Given the description of an element on the screen output the (x, y) to click on. 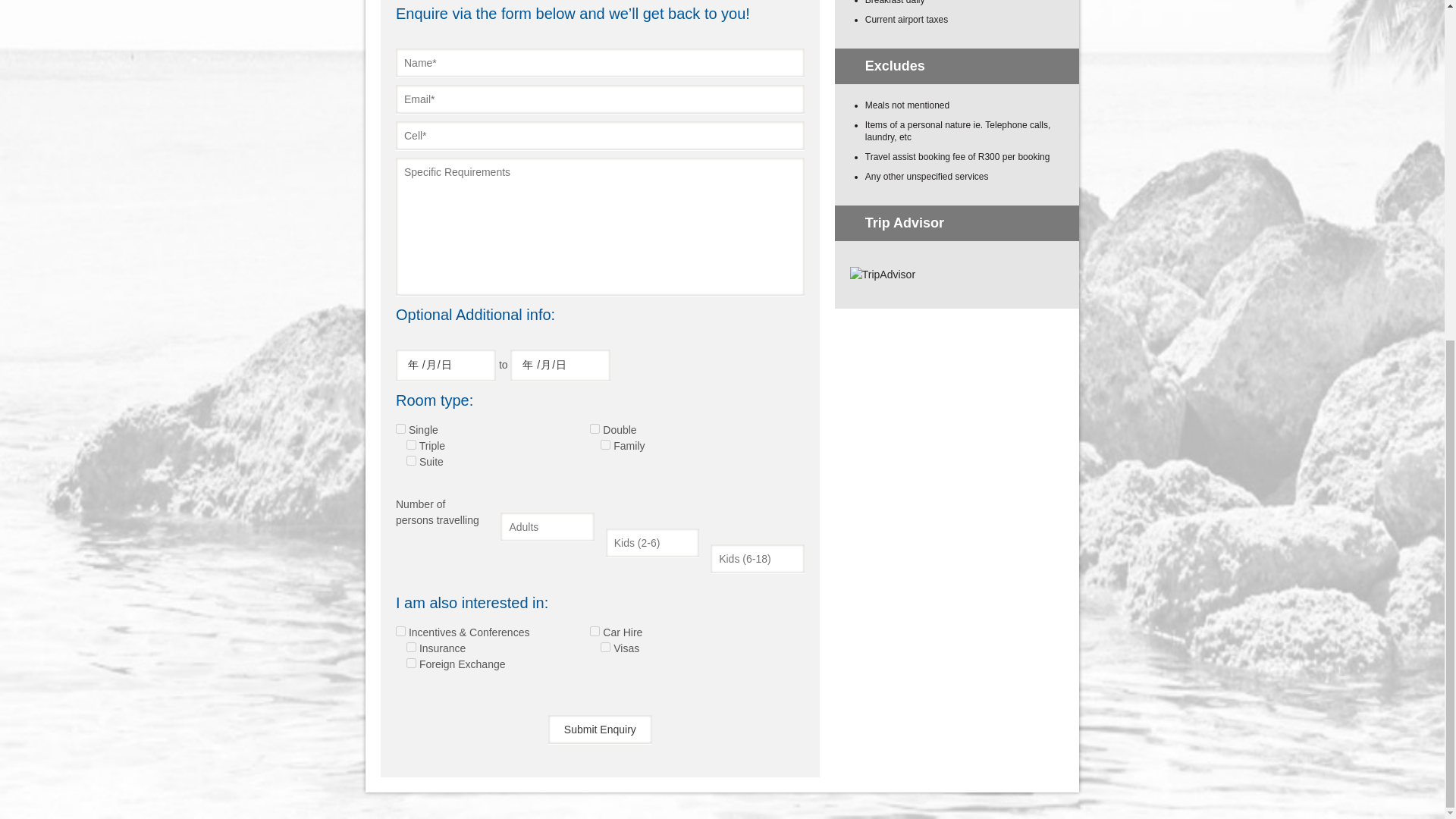
Single (401, 429)
Insurance (411, 646)
Submit Enquiry (600, 728)
Submit Enquiry (600, 728)
Suite (411, 460)
Car Hire (594, 631)
Foreign Exchange (411, 663)
Family (604, 444)
Visas (604, 646)
Triple (411, 444)
